Given the description of an element on the screen output the (x, y) to click on. 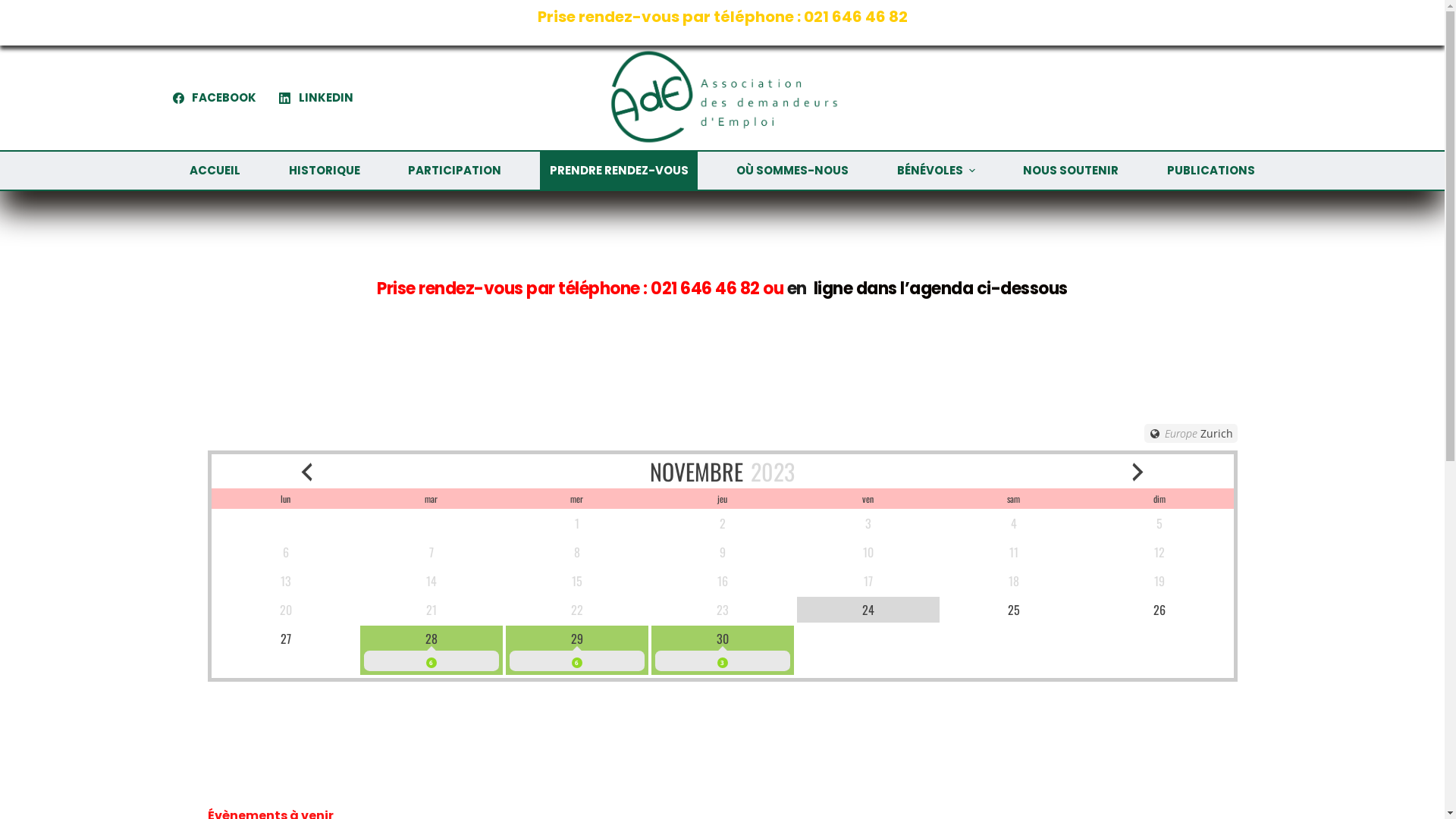
HISTORIQUE Element type: text (324, 170)
ACCUEIL Element type: text (215, 170)
LINKEDIN Element type: text (243, 689)
PARTICIPATION Element type: text (454, 170)
Passer au contenu Element type: text (15, 7)
PRENDRE RENDEZ-VOUS Element type: text (618, 170)
FACEBOOK Element type: text (148, 689)
LINKEDIN Element type: text (316, 97)
PUBLICATIONS Element type: text (1210, 170)
FACEBOOK Element type: text (214, 97)
NOUS SOUTENIR Element type: text (1070, 170)
